Given the description of an element on the screen output the (x, y) to click on. 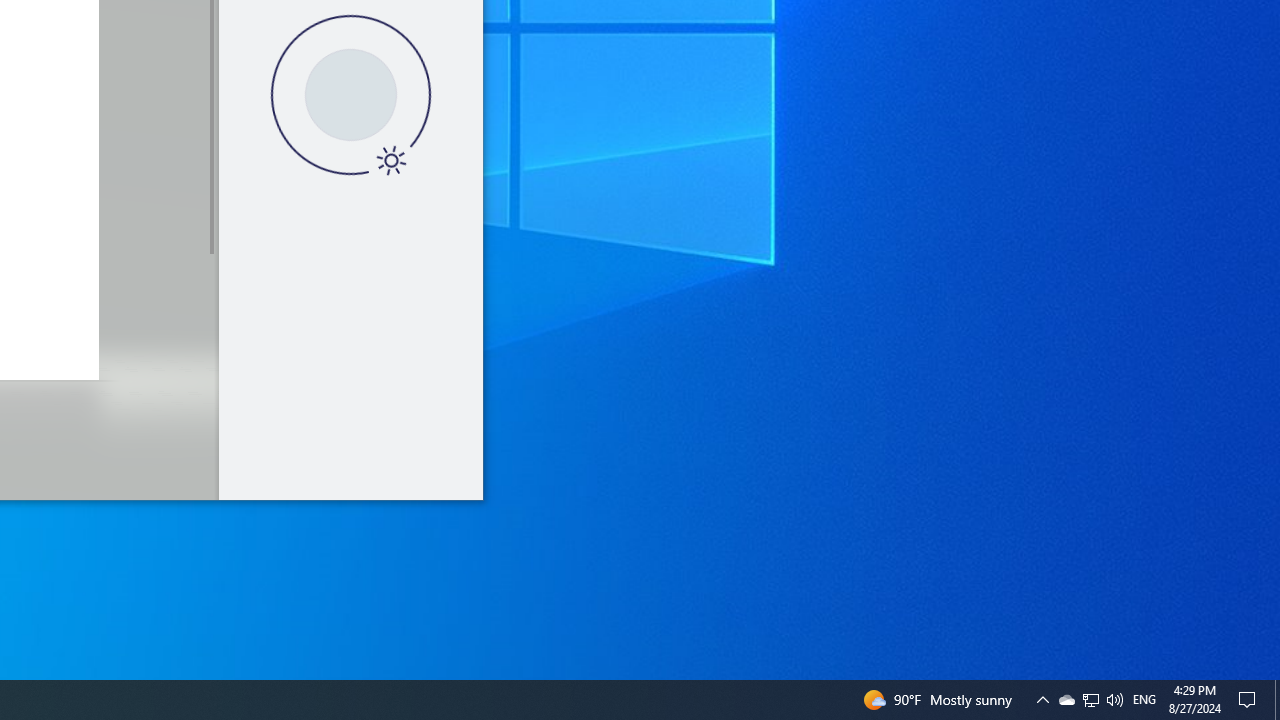
Show desktop (1277, 699)
Q2790: 100% (1114, 699)
Action Center, No new notifications (1091, 699)
Notification Chevron (1250, 699)
Tray Input Indicator - English (United States) (1066, 699)
User Promoted Notification Area (1042, 699)
